Given the description of an element on the screen output the (x, y) to click on. 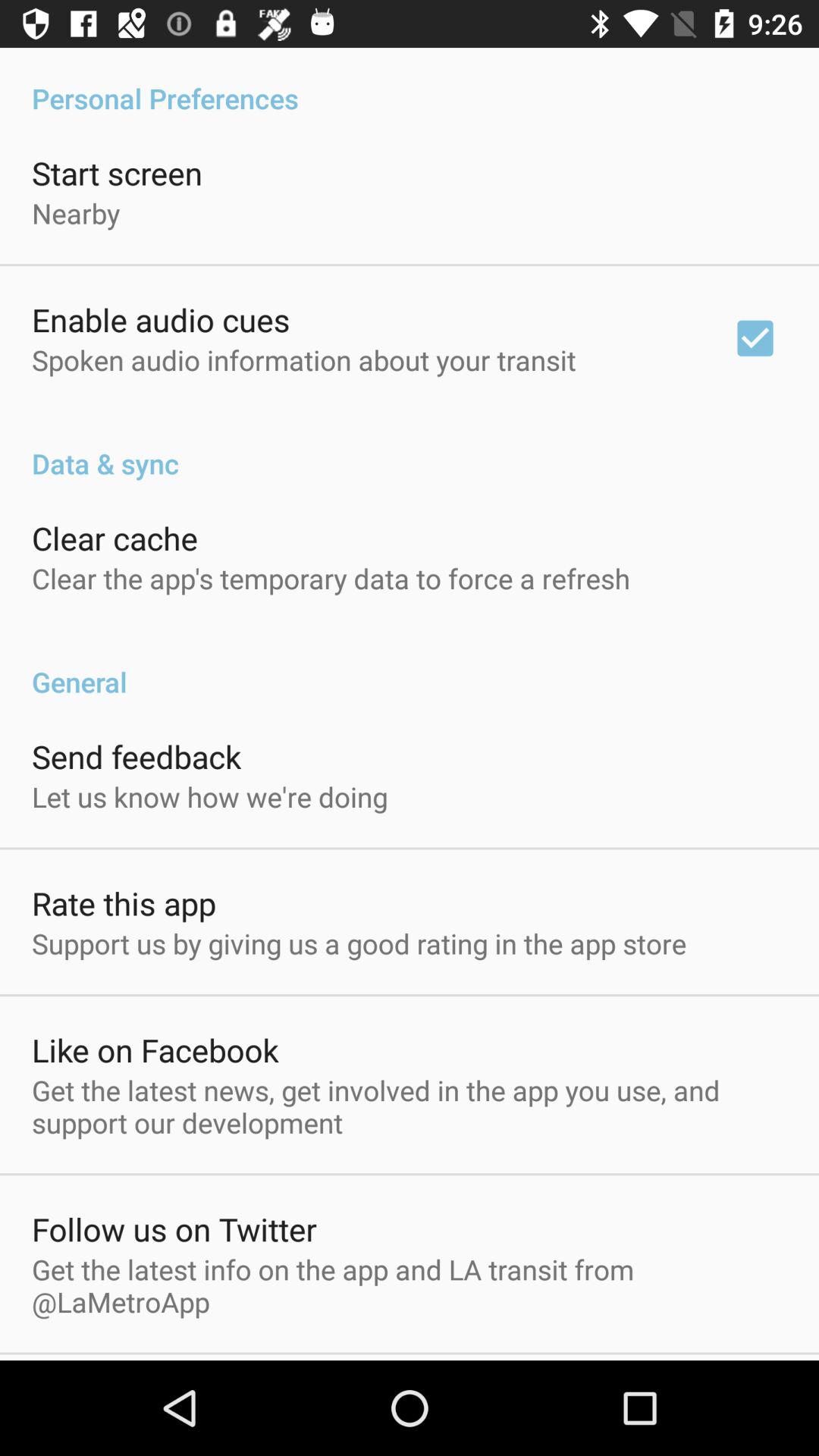
launch app above the let us know item (136, 756)
